Given the description of an element on the screen output the (x, y) to click on. 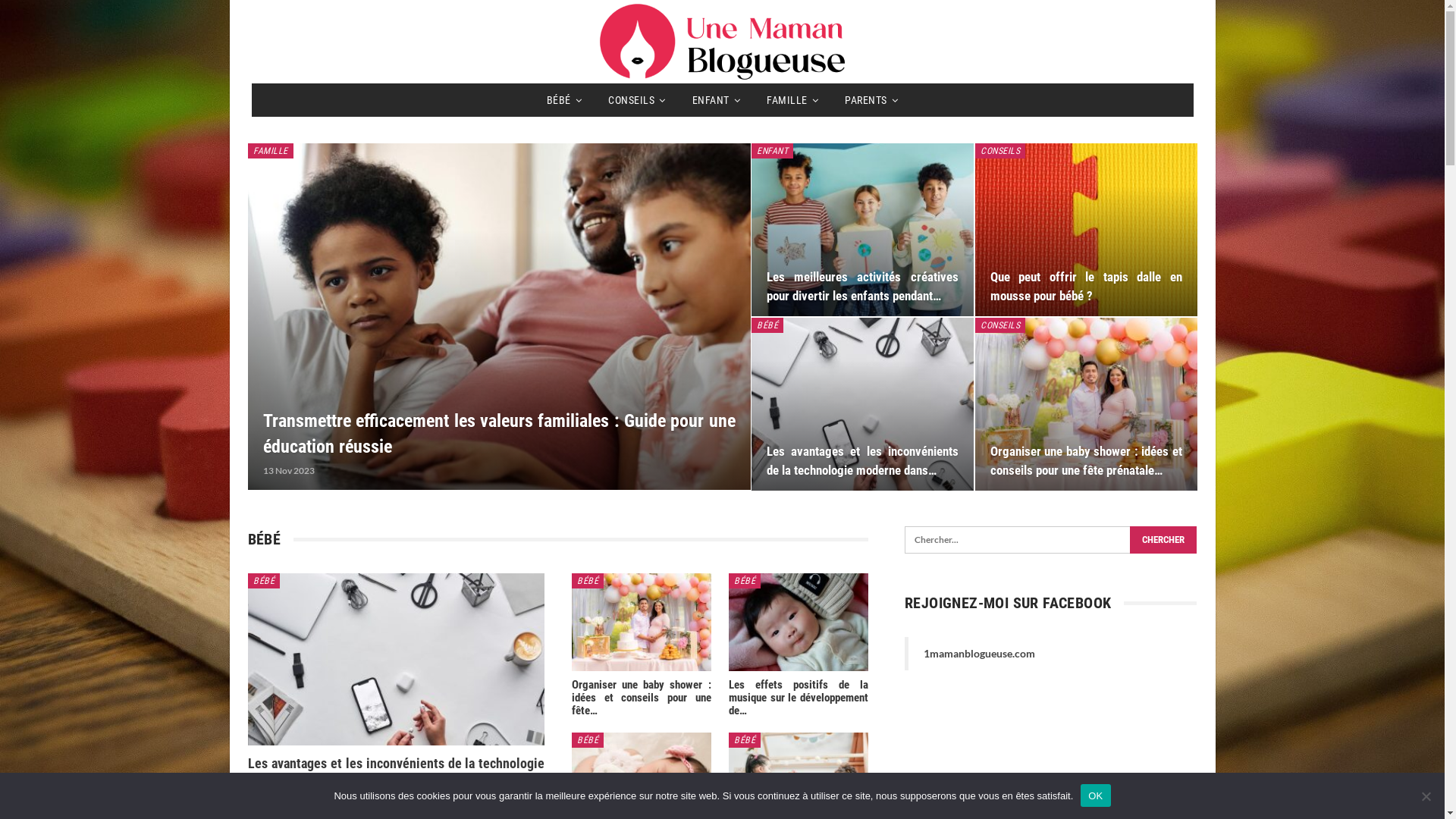
Non Element type: hover (1425, 795)
Chercher Element type: text (1162, 539)
1mamanblogueuse.com Element type: text (979, 652)
OK Element type: text (1095, 795)
Rechercher: Element type: hover (1050, 539)
CONSEILS Element type: text (1000, 150)
FAMILLE Element type: text (269, 150)
PARENTS Element type: text (870, 100)
CONSEILS Element type: text (636, 100)
ENFANT Element type: text (716, 100)
CONSEILS Element type: text (1000, 324)
FAMILLE Element type: text (792, 100)
ENFANT Element type: text (772, 150)
